Given the description of an element on the screen output the (x, y) to click on. 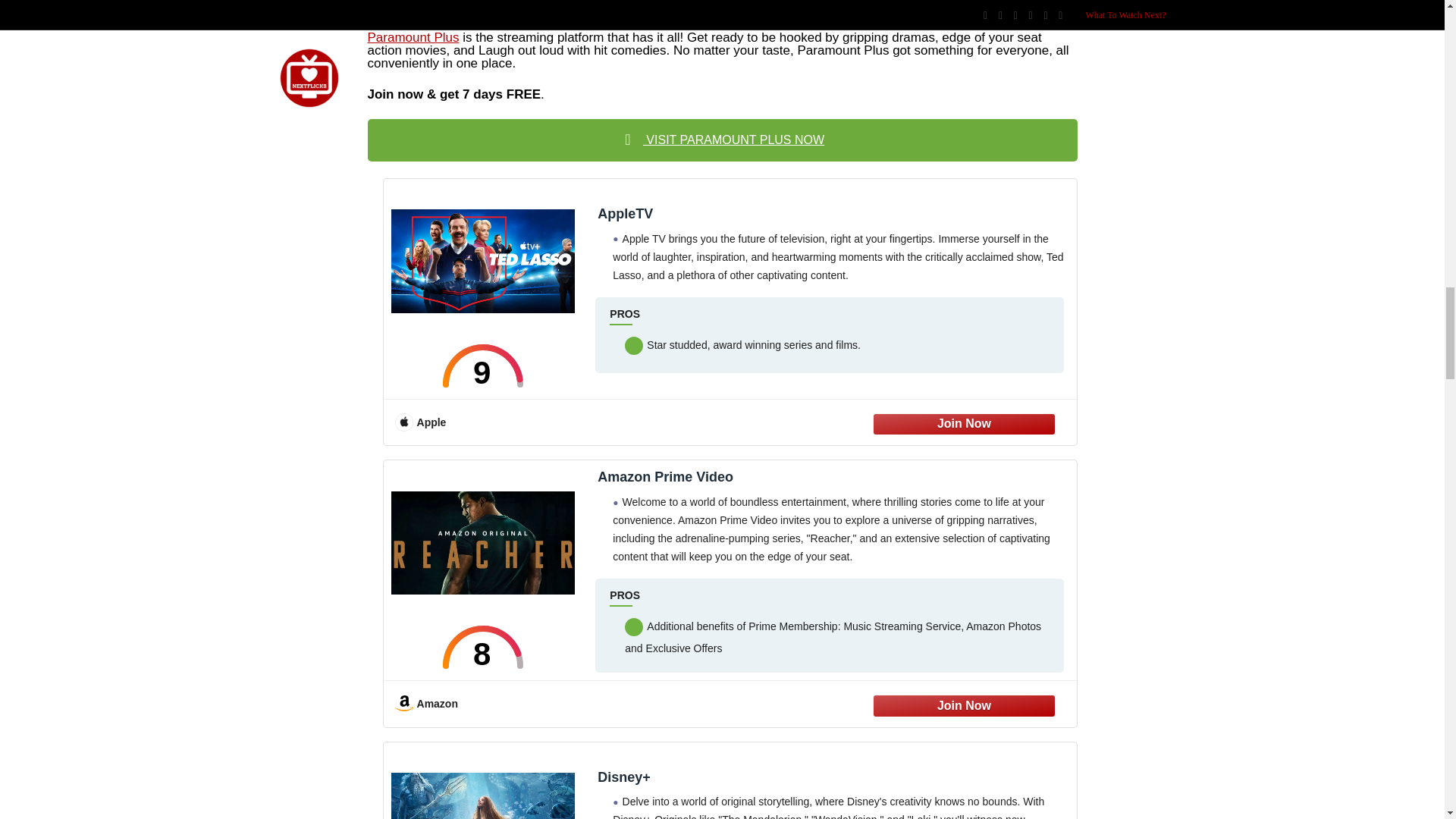
9 (483, 365)
8 (483, 647)
